Given the description of an element on the screen output the (x, y) to click on. 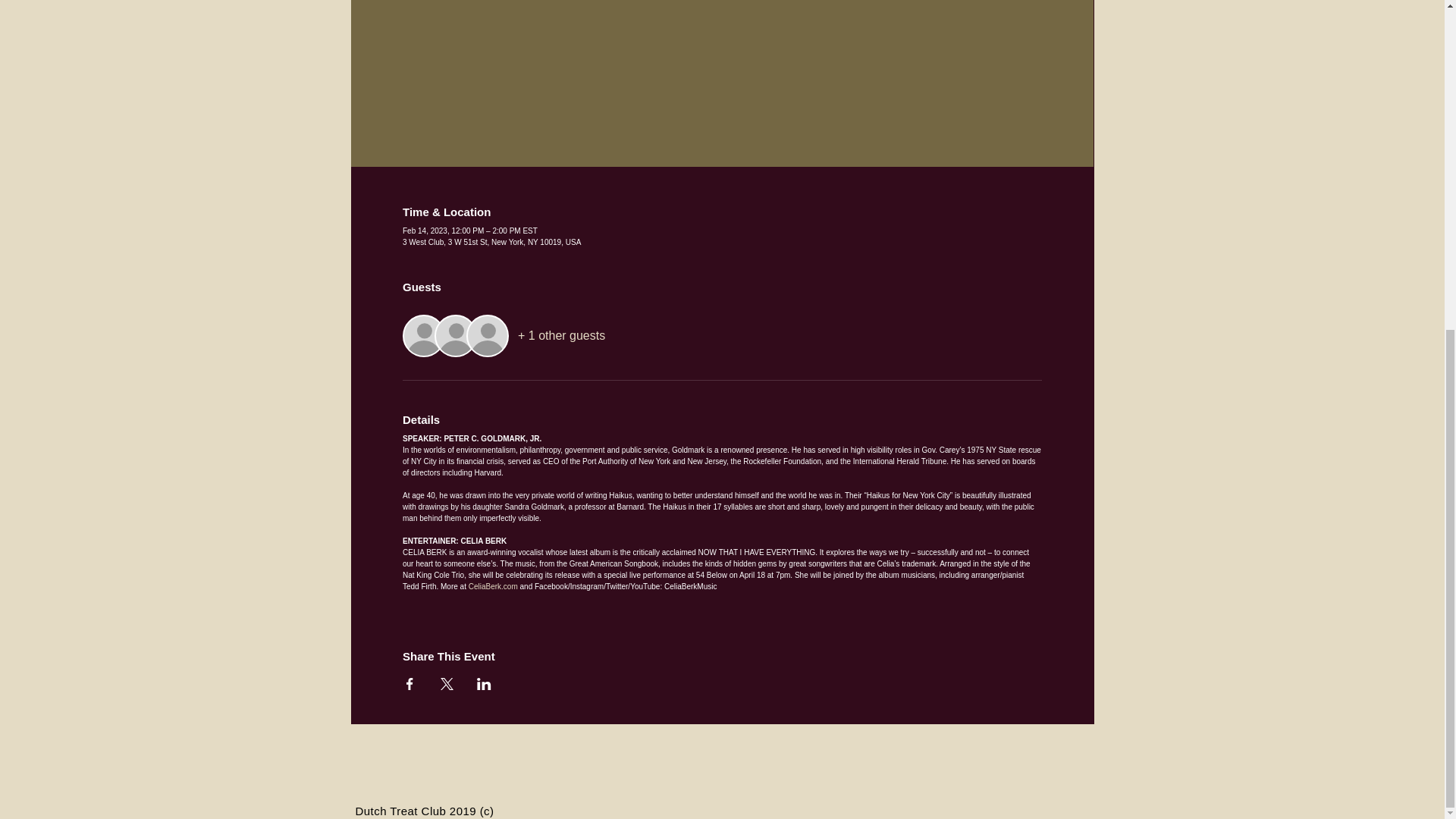
CeliaBerk.com (493, 586)
